Given the description of an element on the screen output the (x, y) to click on. 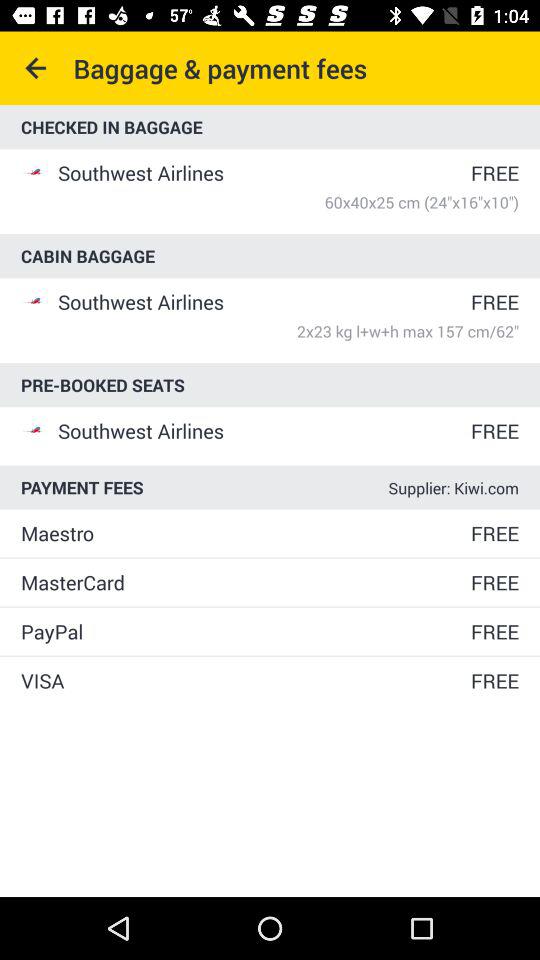
launch icon above the checked in baggage item (36, 68)
